Given the description of an element on the screen output the (x, y) to click on. 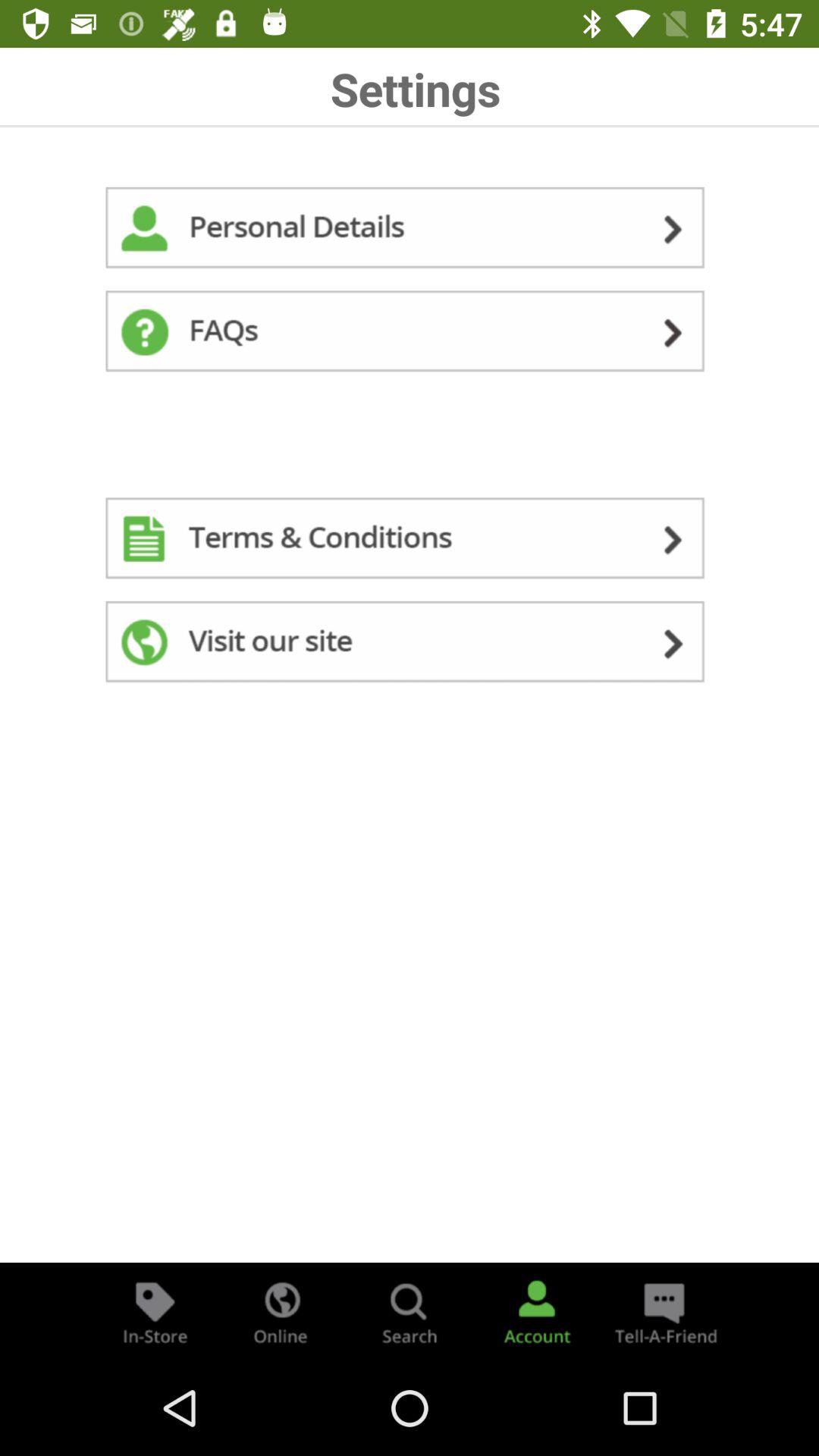
go online (281, 1311)
